Given the description of an element on the screen output the (x, y) to click on. 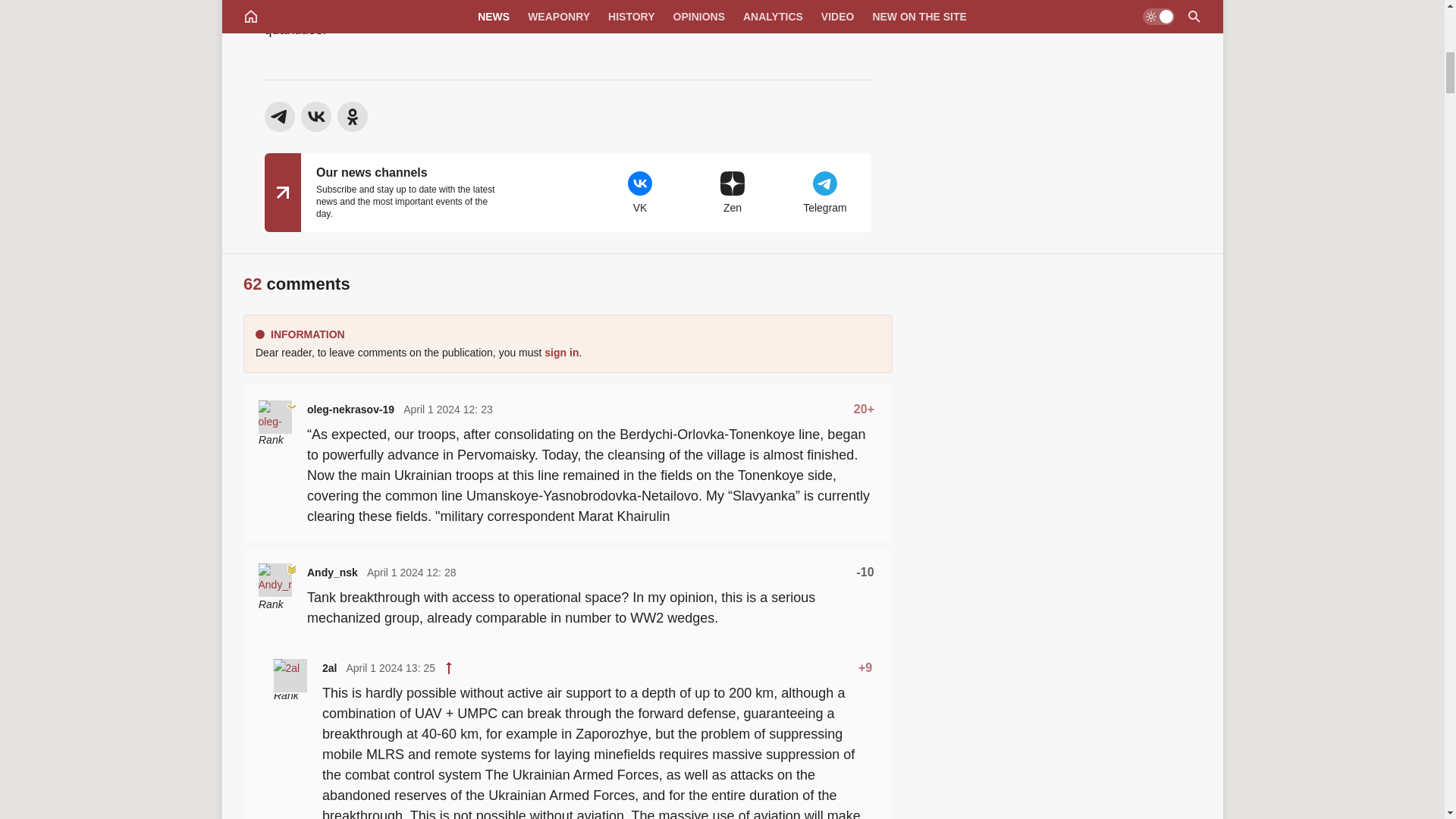
Share on VK (314, 116)
Share on Telegram (278, 116)
